Given the description of an element on the screen output the (x, y) to click on. 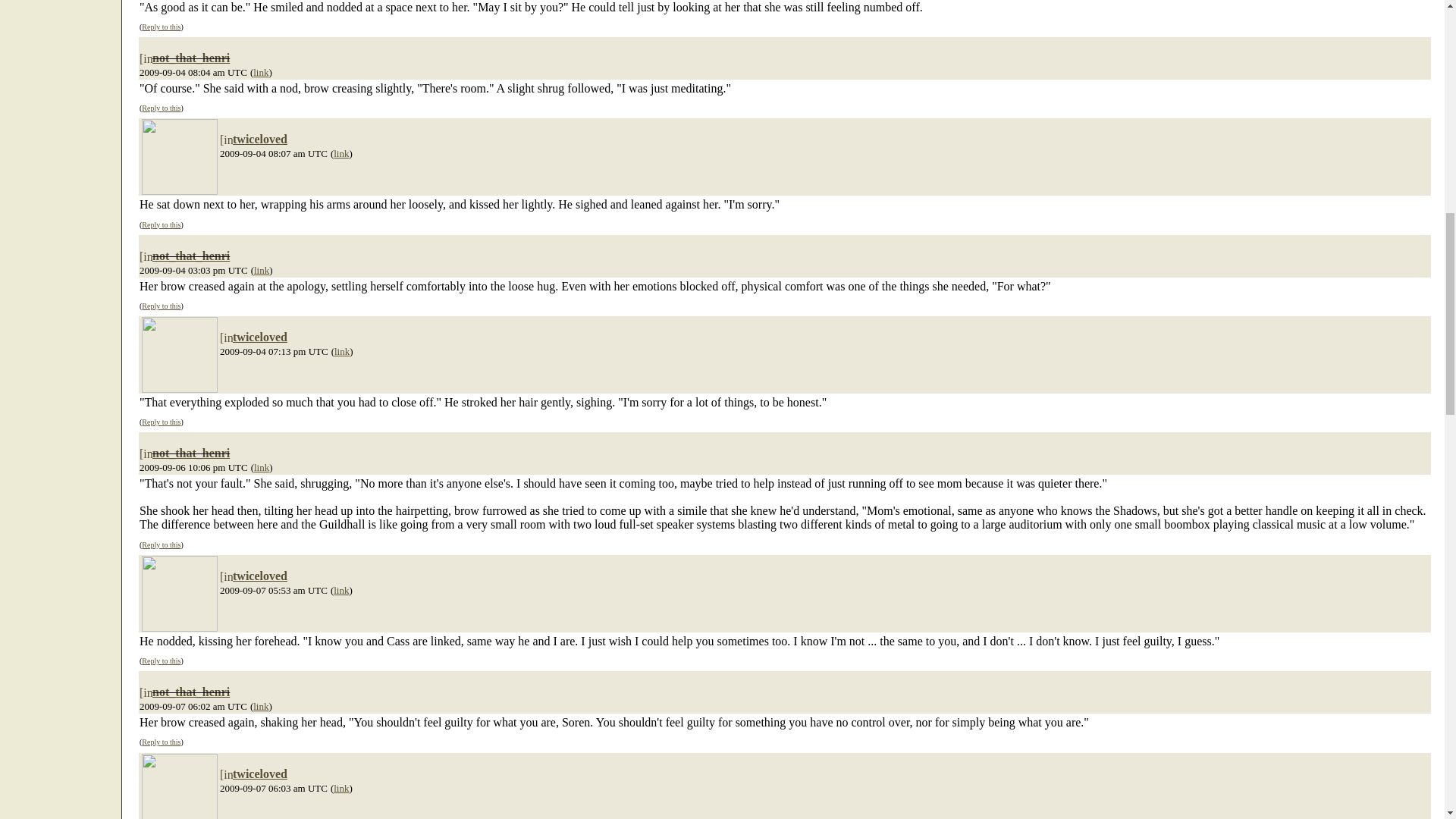
Soren Elias Chappu Skwigelf (178, 354)
Soren Elias Chappu Skwigelf: hanging out - blah (178, 156)
Soren Elias Chappu Skwigelf: cutieface (178, 786)
Soren Elias Chappu Skwigelf: hanging out - stomach (178, 593)
